Given the description of an element on the screen output the (x, y) to click on. 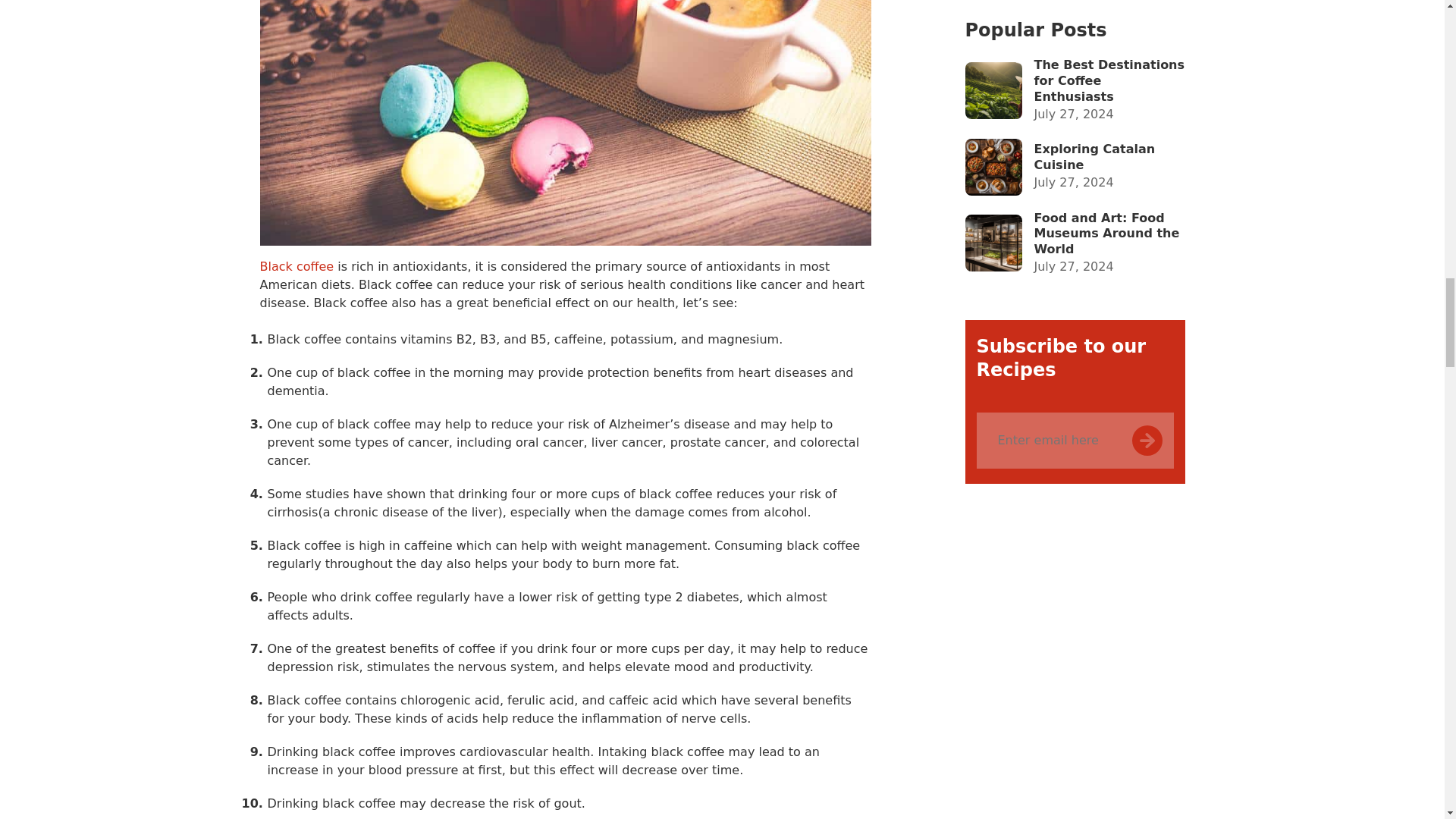
Black coffee (296, 266)
